Given the description of an element on the screen output the (x, y) to click on. 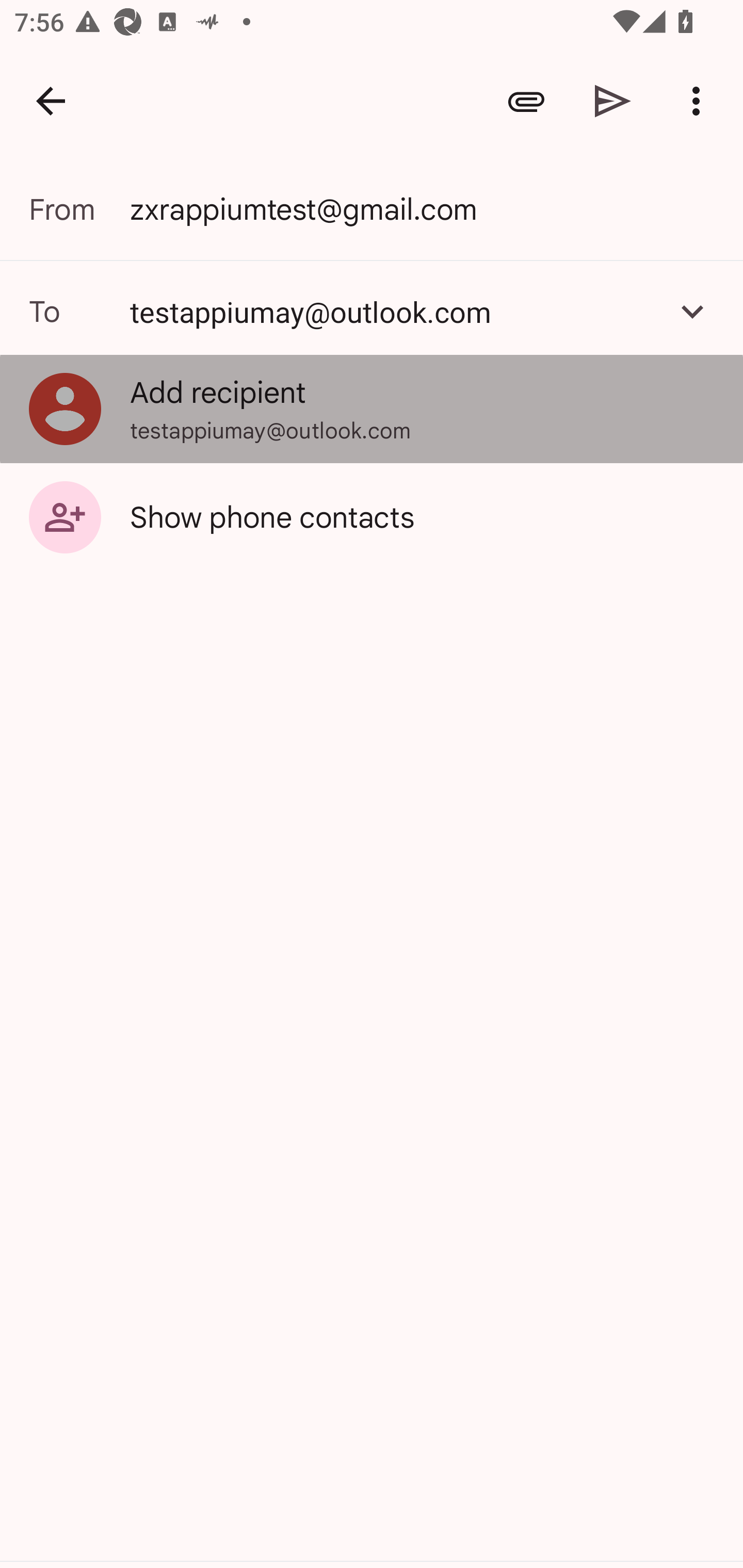
Navigate up (50, 101)
Attach file (525, 101)
Send (612, 101)
More options (699, 101)
From (79, 209)
Add Cc/Bcc (692, 311)
testappiumay@outlook.com (371, 311)
testappiumay@outlook.com (393, 311)
Add recipient testappiumay@outlook.com (371, 408)
Show phone contacts (371, 516)
